Given the description of an element on the screen output the (x, y) to click on. 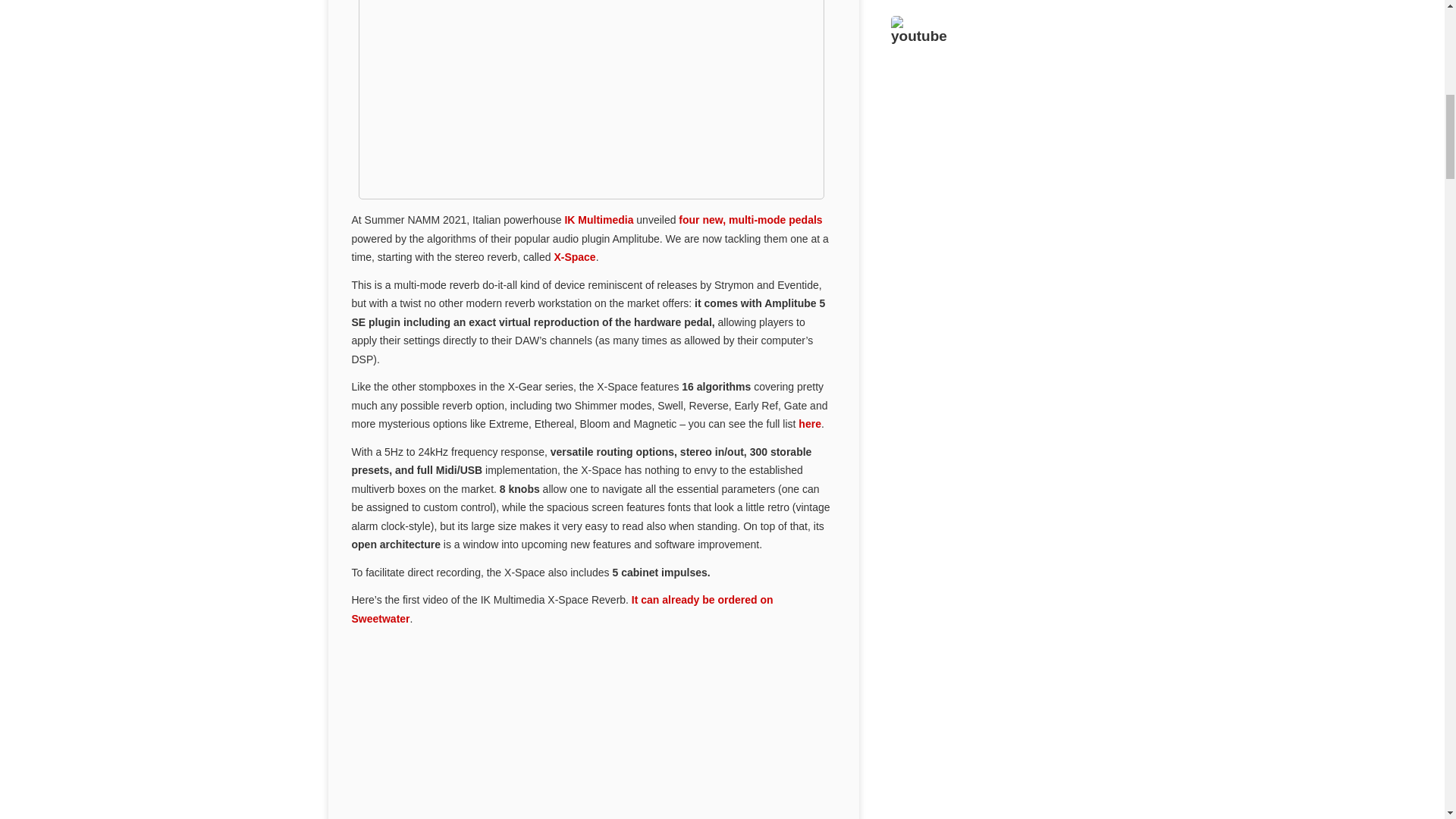
IK (591, 99)
YouTube video player (992, 180)
